Given the description of an element on the screen output the (x, y) to click on. 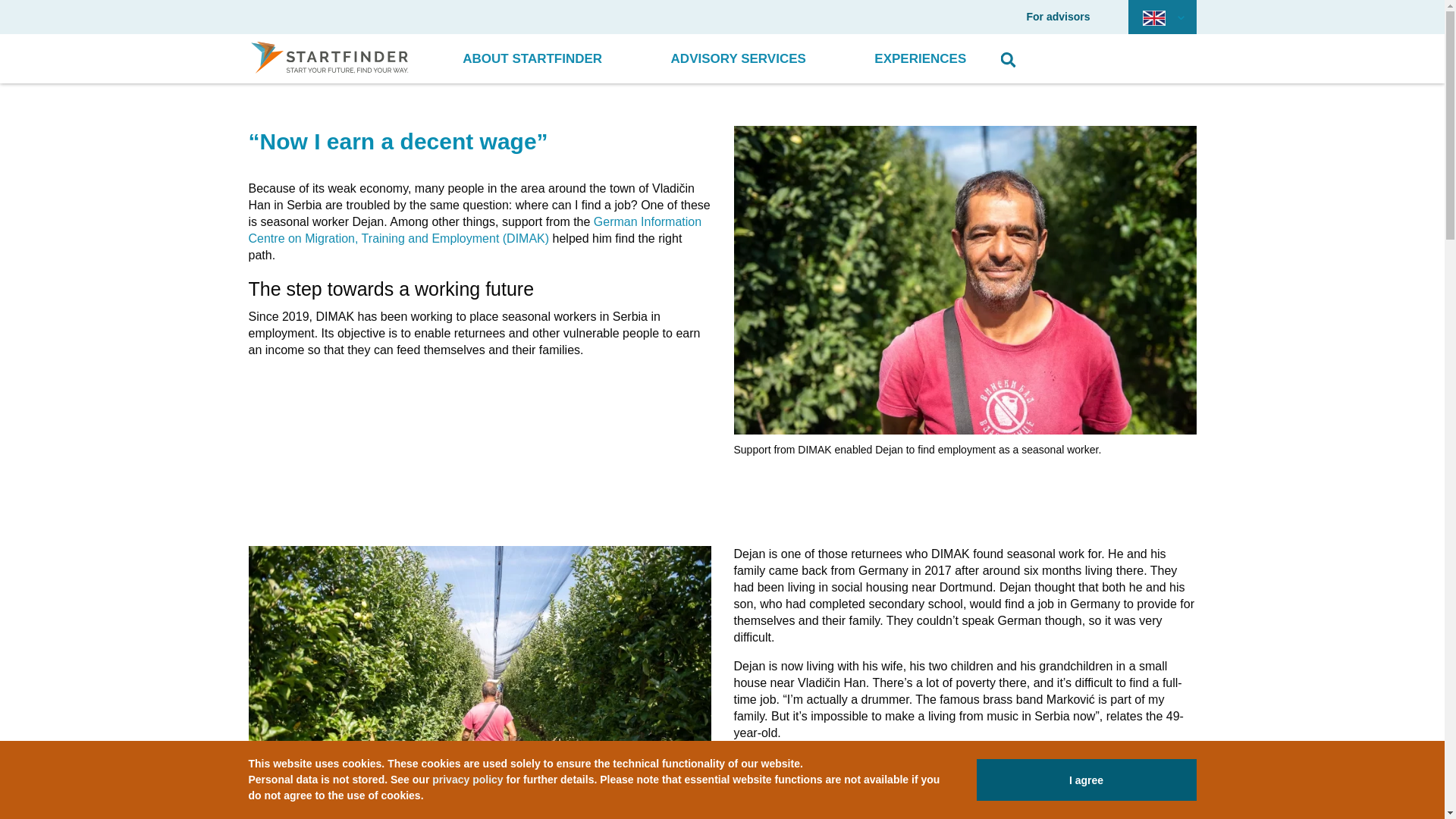
EXPERIENCES (920, 58)
ADVISORY SERVICES (738, 58)
ABOUT STARTFINDER (532, 58)
For advisors (1057, 17)
